Given the description of an element on the screen output the (x, y) to click on. 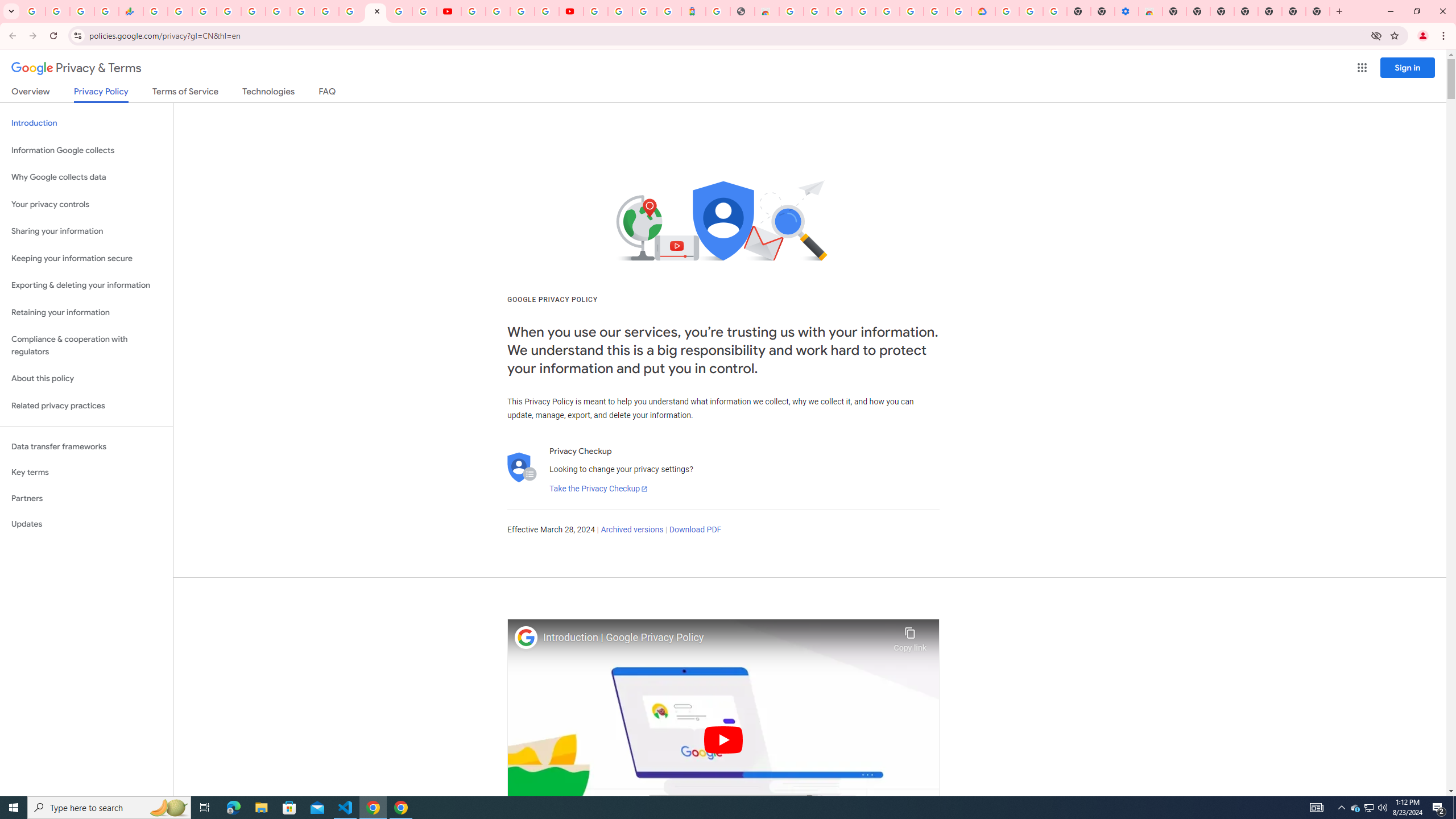
Download PDF (695, 529)
Android TV Policies and Guidelines - Transparency Center (302, 11)
Why Google collects data (86, 176)
Sharing your information (86, 230)
